Given the description of an element on the screen output the (x, y) to click on. 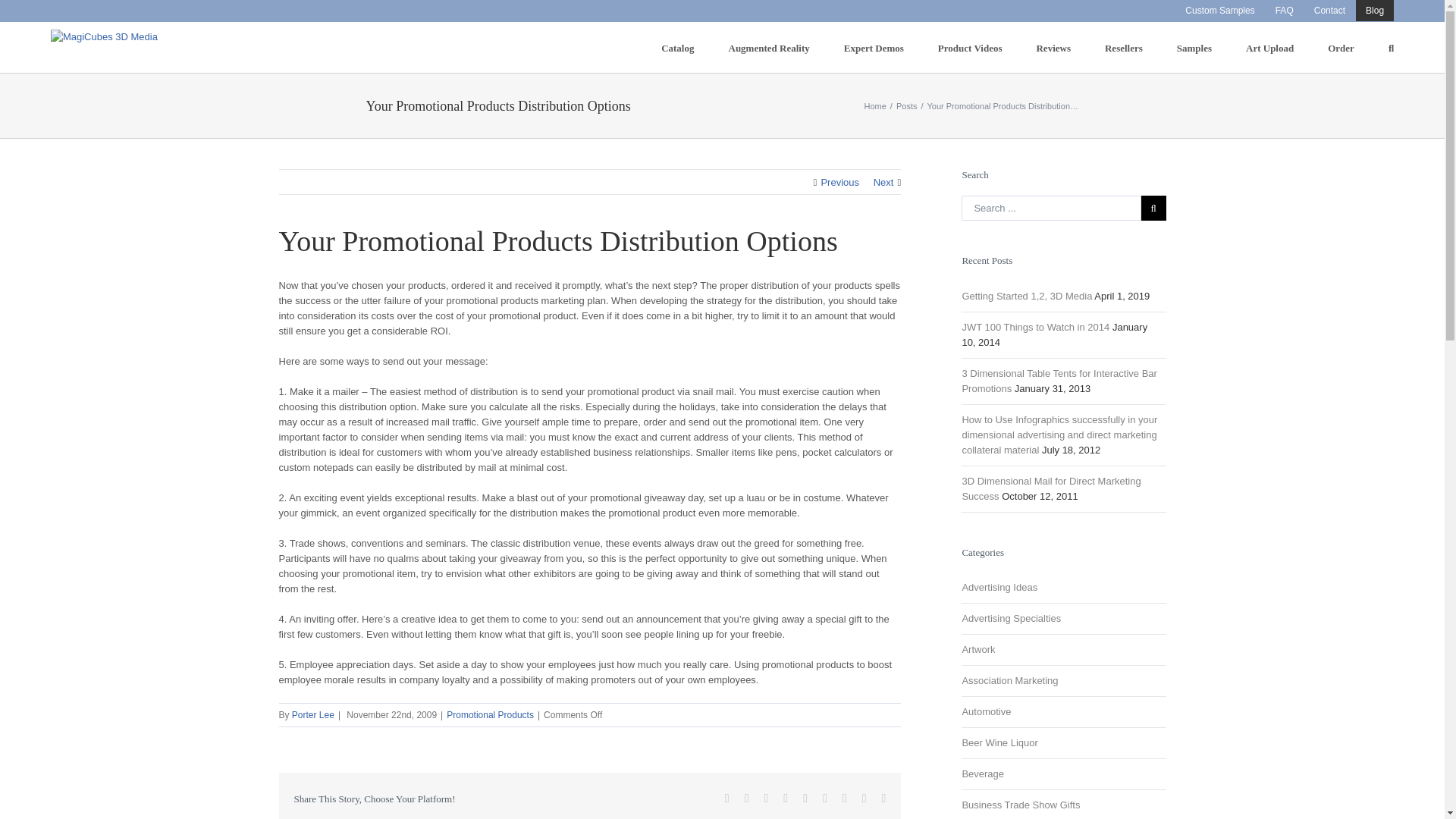
Blog (1374, 10)
Posts by Porter Lee (313, 715)
FAQ (1284, 10)
Porter Lee (313, 715)
Posts (906, 104)
Augmented Reality (768, 47)
Custom Samples (1218, 10)
Contact (1329, 10)
Promotional Products (490, 715)
Product Videos (970, 47)
